Given the description of an element on the screen output the (x, y) to click on. 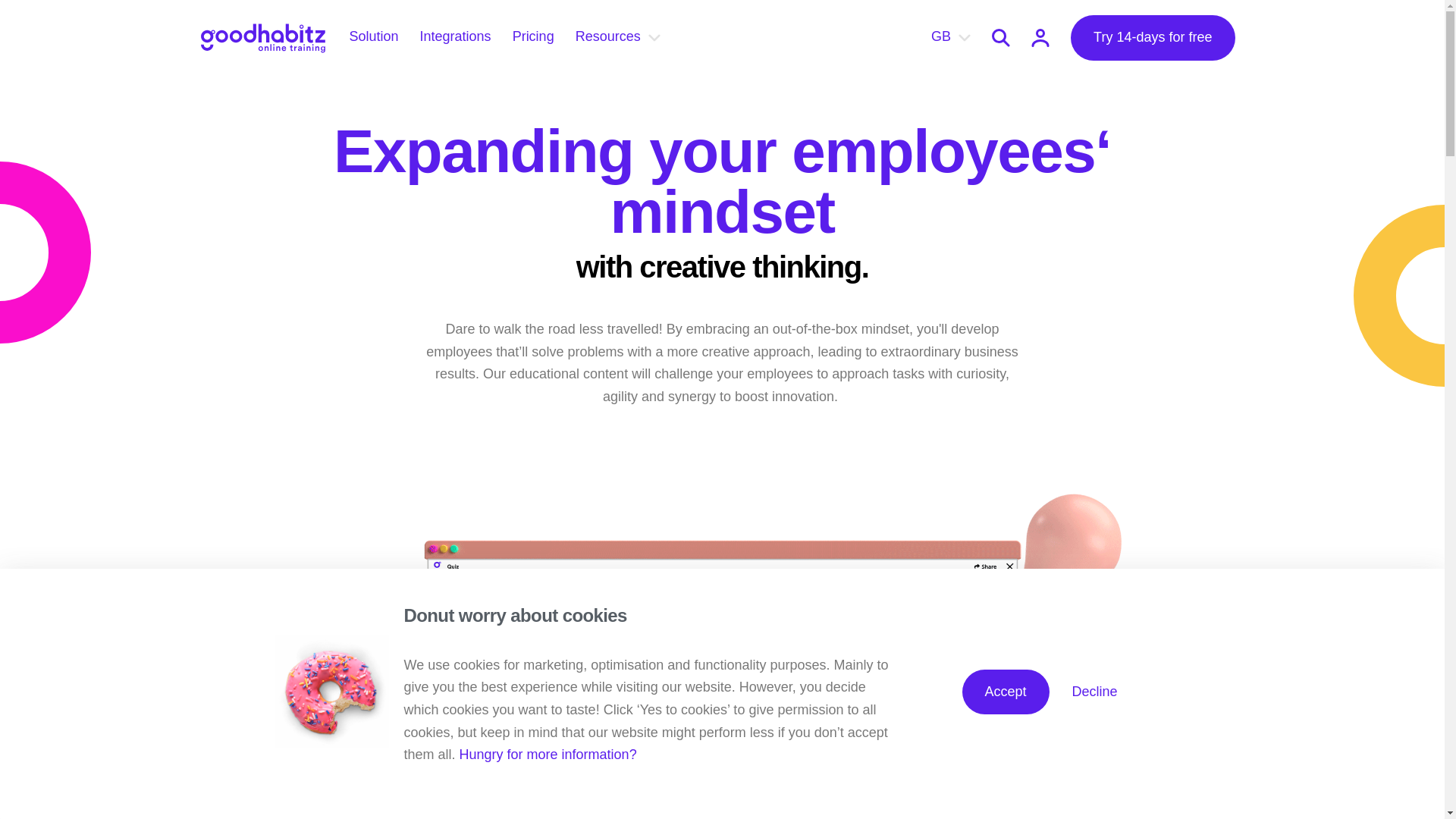
Solution (373, 37)
Try 14-days for free (1152, 37)
Integrations (456, 37)
Cookies (550, 754)
